Given the description of an element on the screen output the (x, y) to click on. 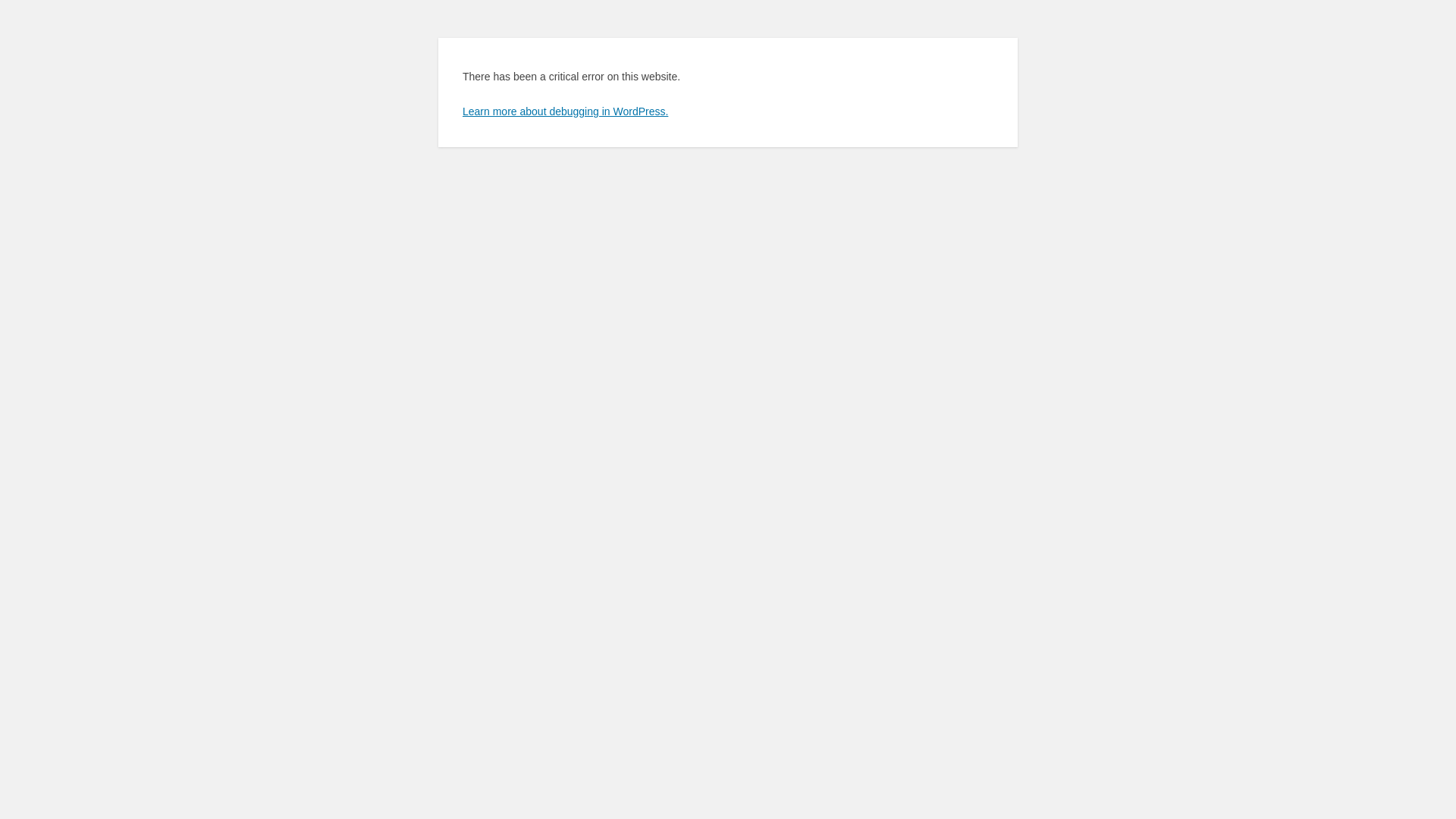
Learn more about debugging in WordPress. Element type: text (565, 111)
